Given the description of an element on the screen output the (x, y) to click on. 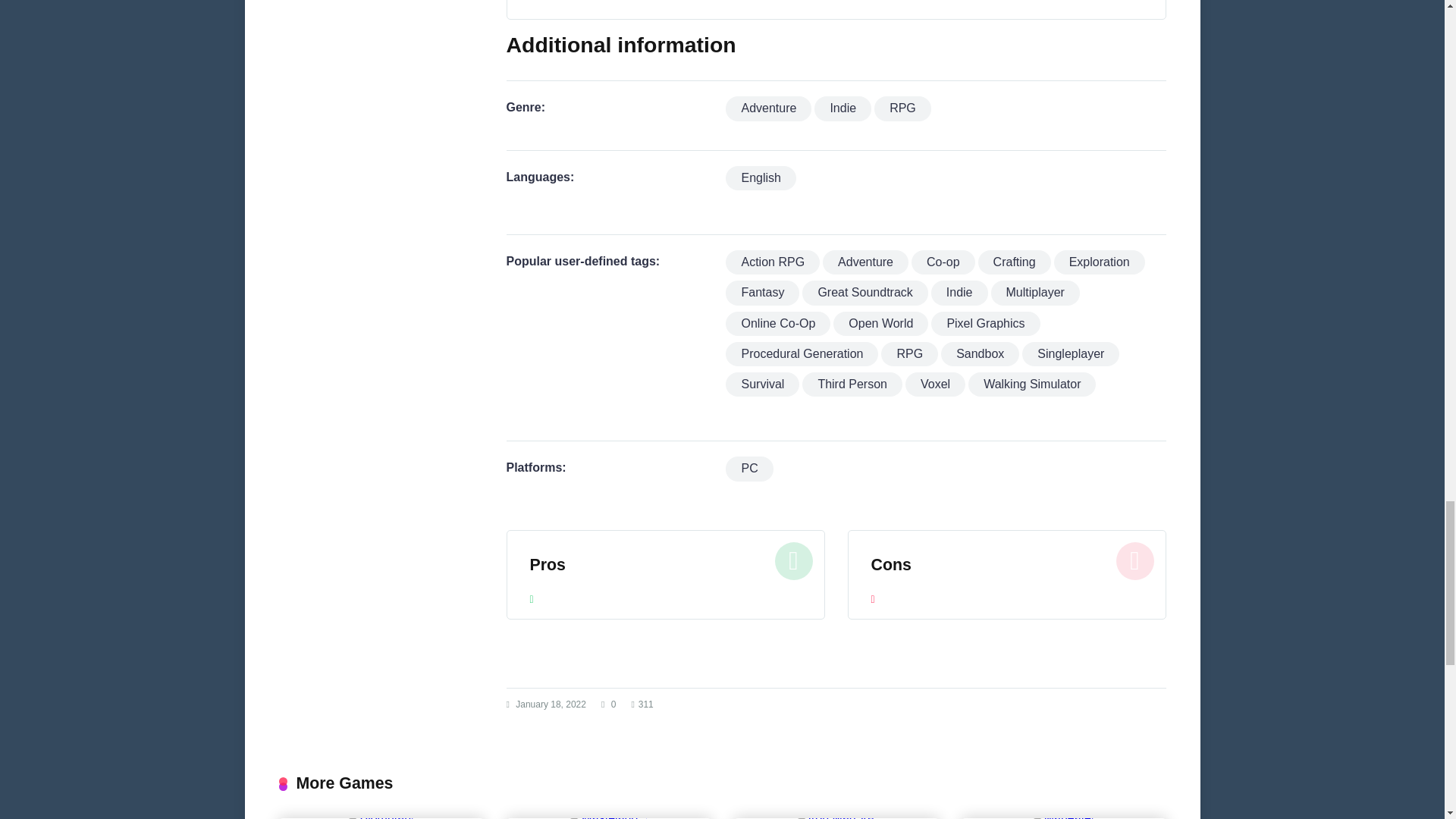
RPG (903, 108)
Adventure (865, 262)
English (759, 178)
Adventure (767, 108)
Crafting (1014, 262)
Great Soundtrack (864, 292)
Action RPG (772, 262)
Fantasy (762, 292)
Indie (959, 292)
Multiplayer (1035, 292)
Indie (841, 108)
Co-op (943, 262)
Exploration (1099, 262)
